Given the description of an element on the screen output the (x, y) to click on. 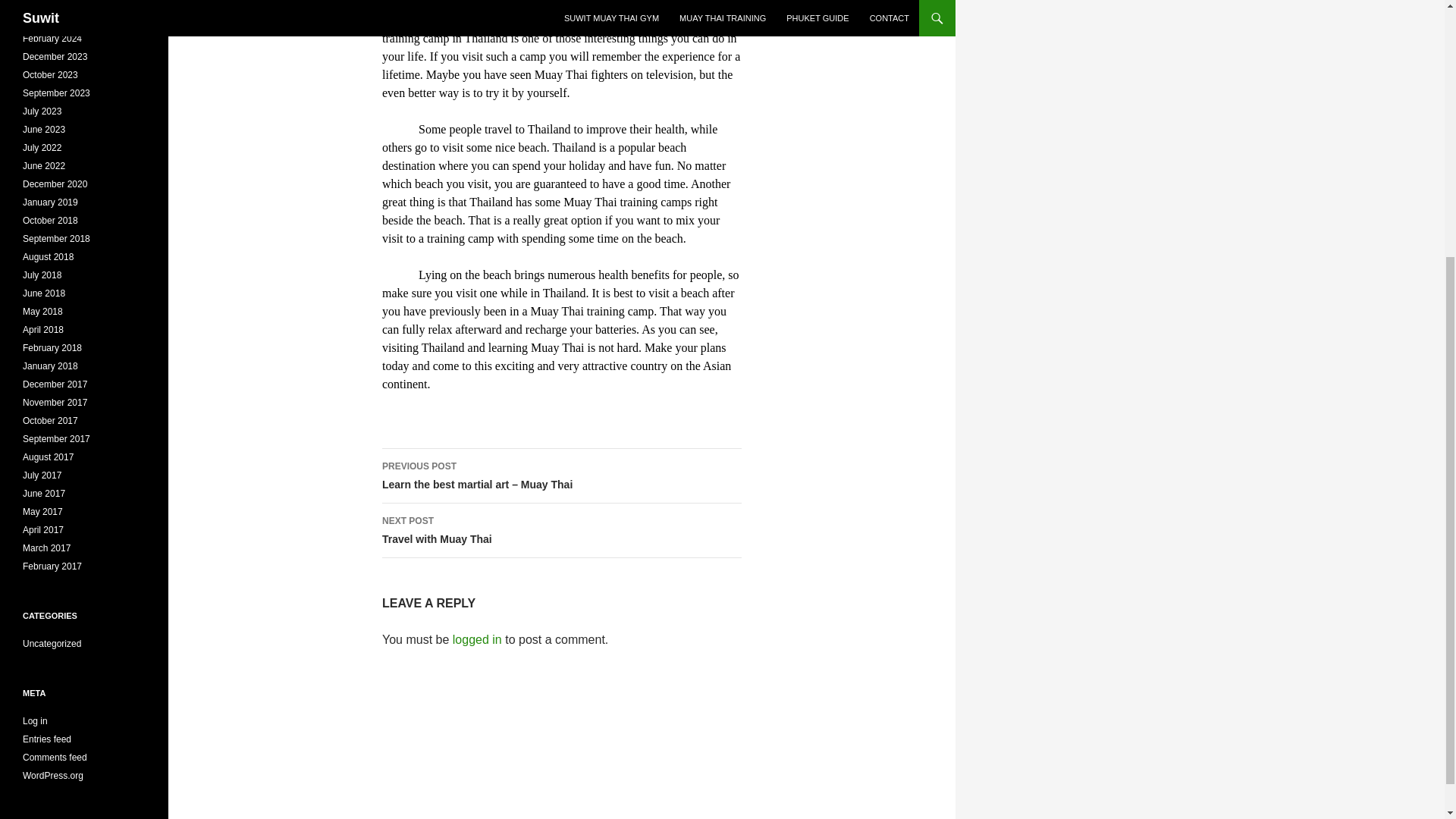
October 2018 (50, 220)
April 2018 (43, 329)
December 2020 (55, 184)
February 2018 (52, 347)
September 2023 (56, 92)
May 2018 (42, 311)
June 2022 (44, 165)
December 2023 (55, 56)
August 2018 (48, 256)
